Given the description of an element on the screen output the (x, y) to click on. 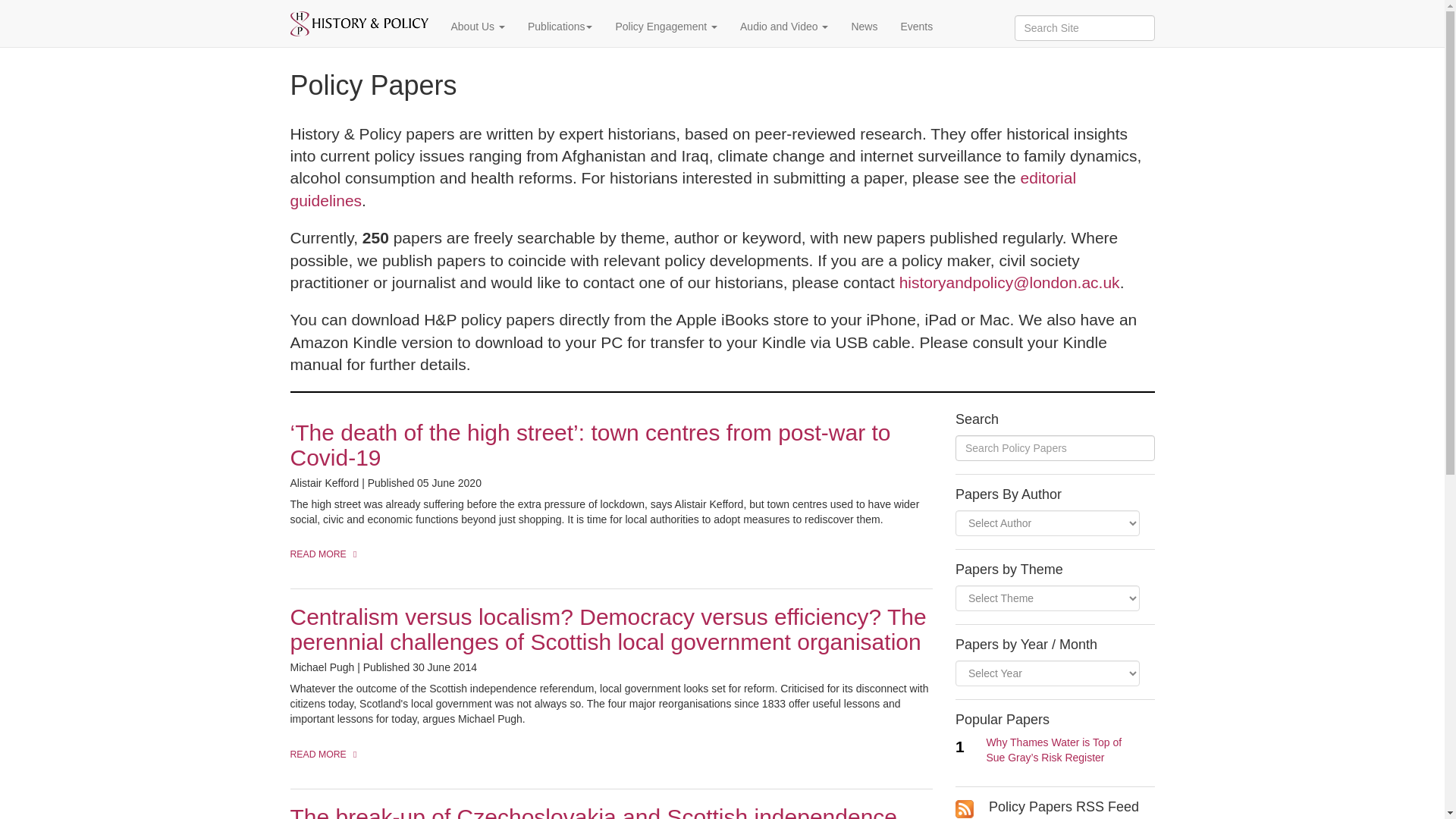
READ MORE (327, 554)
Publications (560, 26)
The break-up of Czechoslovakia and Scottish independence (592, 811)
Policy Engagement (666, 26)
News (864, 26)
editorial guidelines (682, 188)
Audio and Video (784, 26)
READ MORE (327, 755)
Events (915, 26)
About Us (477, 26)
